Given the description of an element on the screen output the (x, y) to click on. 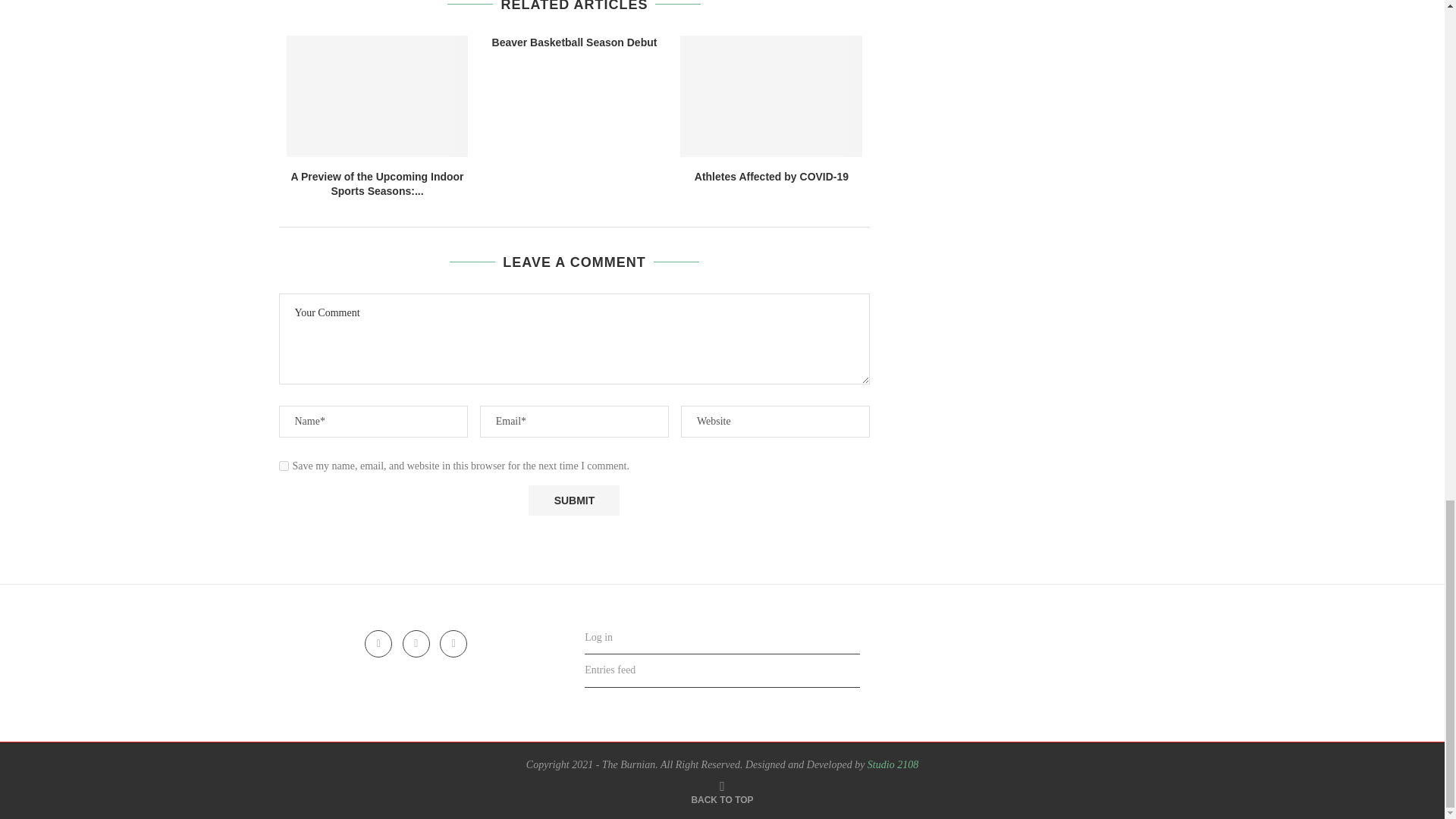
yes (283, 465)
Submit (574, 500)
